Given the description of an element on the screen output the (x, y) to click on. 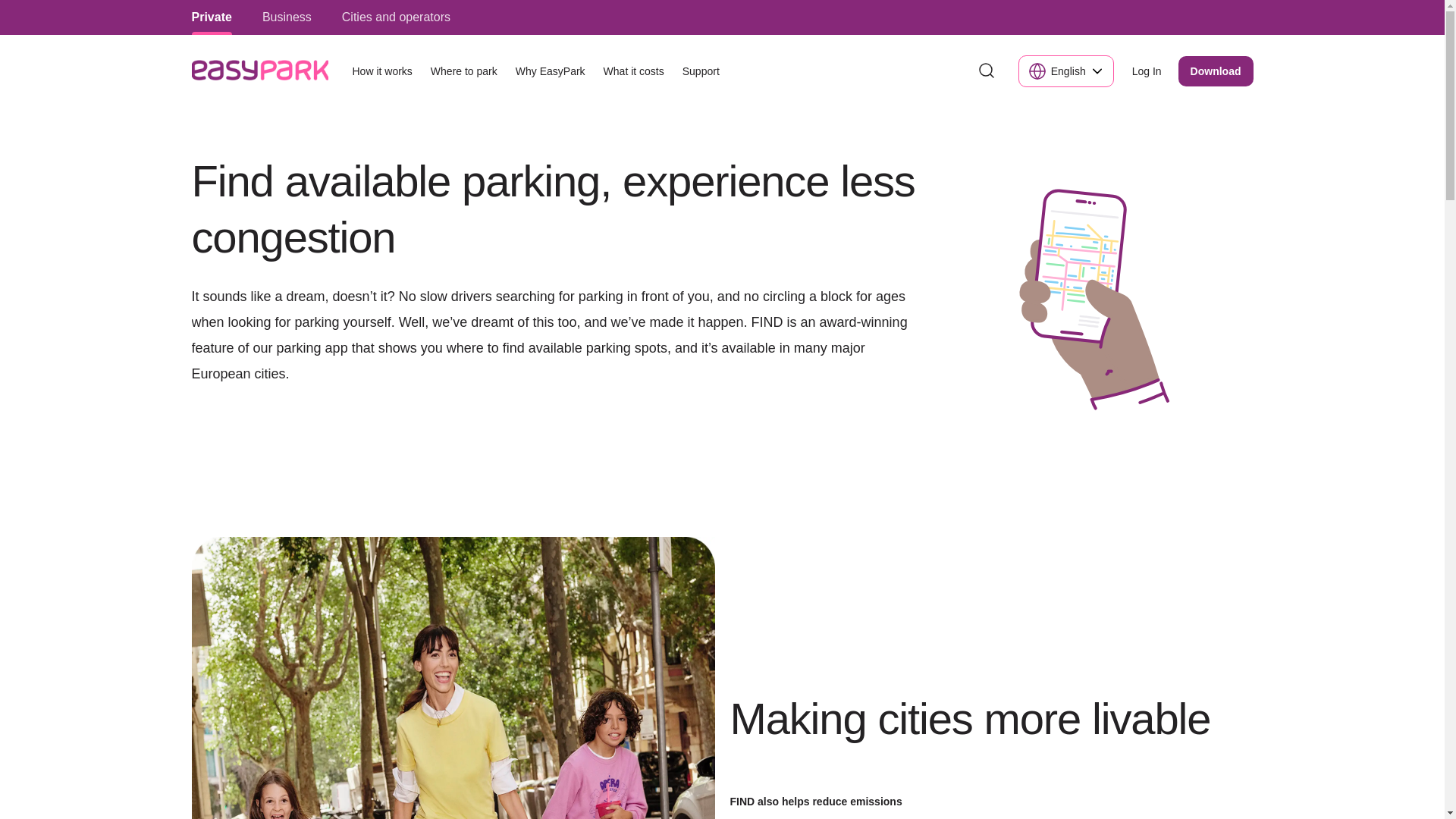
Support (700, 71)
Private (210, 16)
Why EasyPark (550, 71)
Log In (1146, 71)
How it works (381, 71)
Cities and operators (395, 16)
Download (1215, 71)
What it costs (633, 71)
Business (286, 16)
Where to park (464, 71)
English (1065, 70)
